Given the description of an element on the screen output the (x, y) to click on. 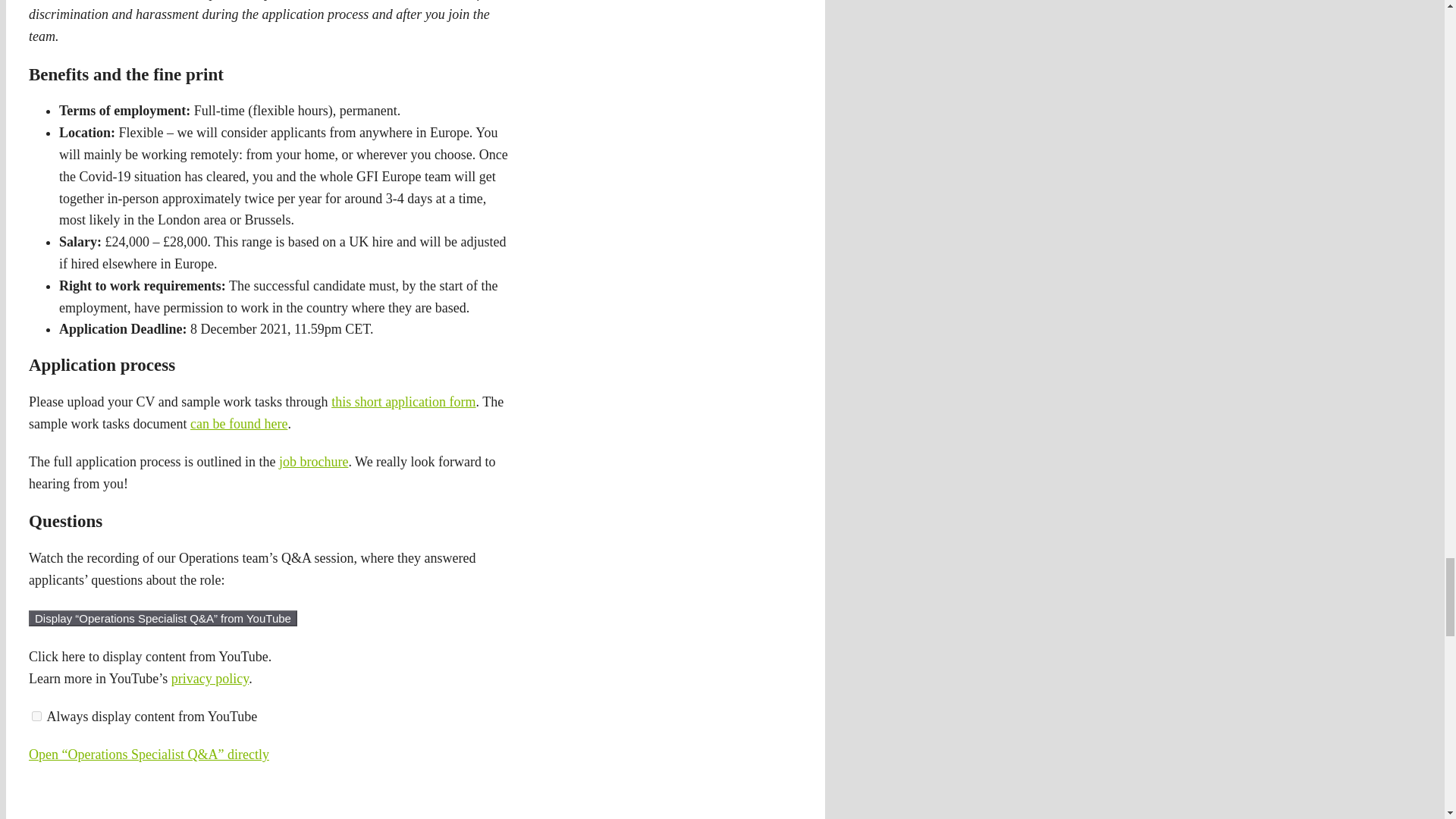
1 (37, 716)
